Given the description of an element on the screen output the (x, y) to click on. 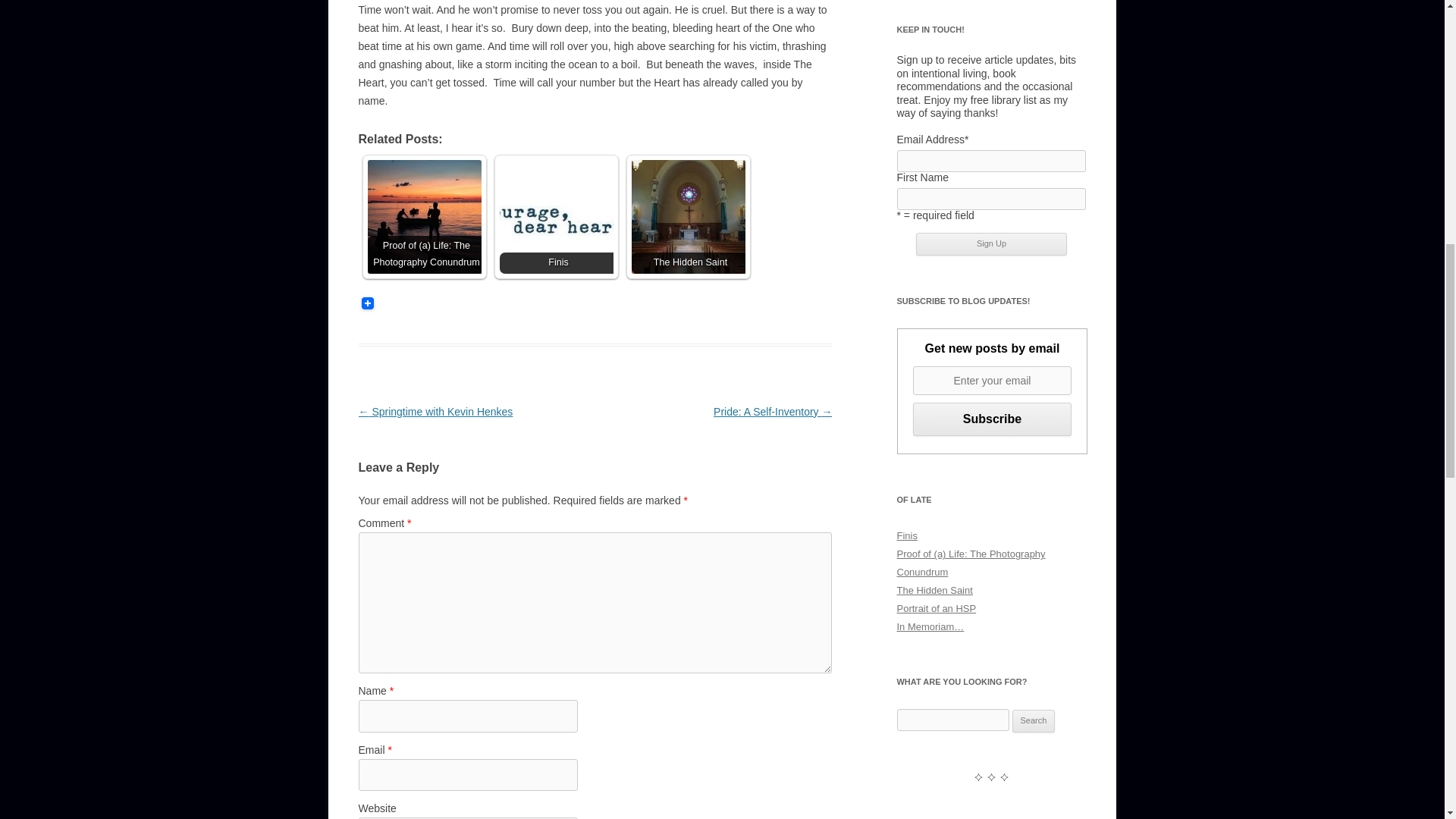
The Hidden Saint (687, 216)
Finis (555, 216)
Portrait of an HSP (935, 608)
Sign Up (991, 243)
Search (1033, 721)
Sign Up (991, 243)
Search (1033, 721)
Finis (906, 535)
Subscribe (991, 419)
Finis (555, 216)
Subscribe (991, 419)
The Hidden Saint (934, 590)
The Hidden Saint (687, 216)
